Given the description of an element on the screen output the (x, y) to click on. 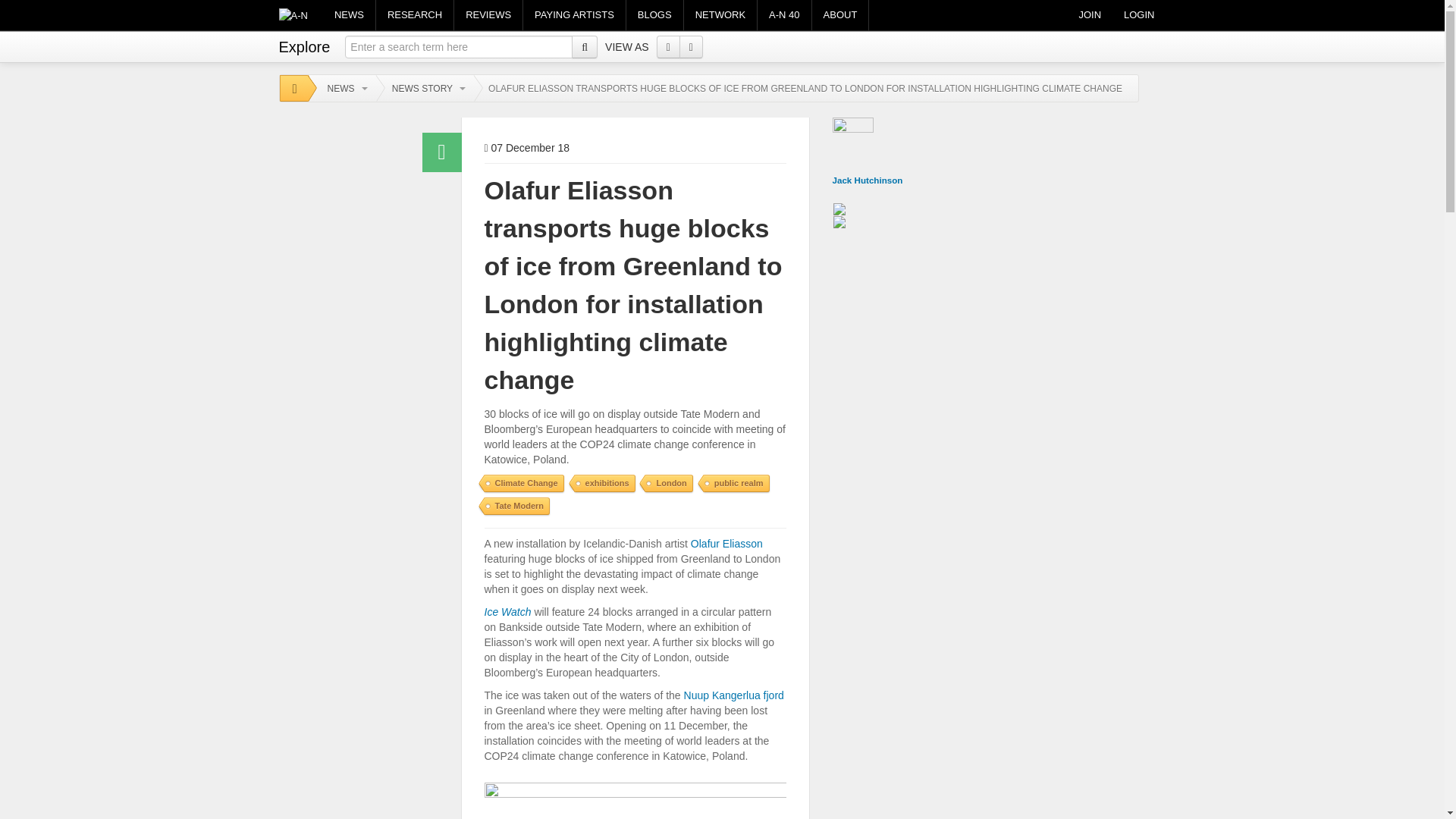
JOIN (1089, 15)
A-N 40 (783, 15)
RESEARCH (413, 15)
NEWS (349, 15)
About (840, 15)
News stories (349, 15)
ABOUT (840, 15)
Explore (304, 42)
NETWORK (720, 15)
LOGIN (1139, 15)
Reviews (488, 15)
REVIEWS (488, 15)
Blogs (654, 15)
Network (720, 15)
Campaigns stories (574, 15)
